Given the description of an element on the screen output the (x, y) to click on. 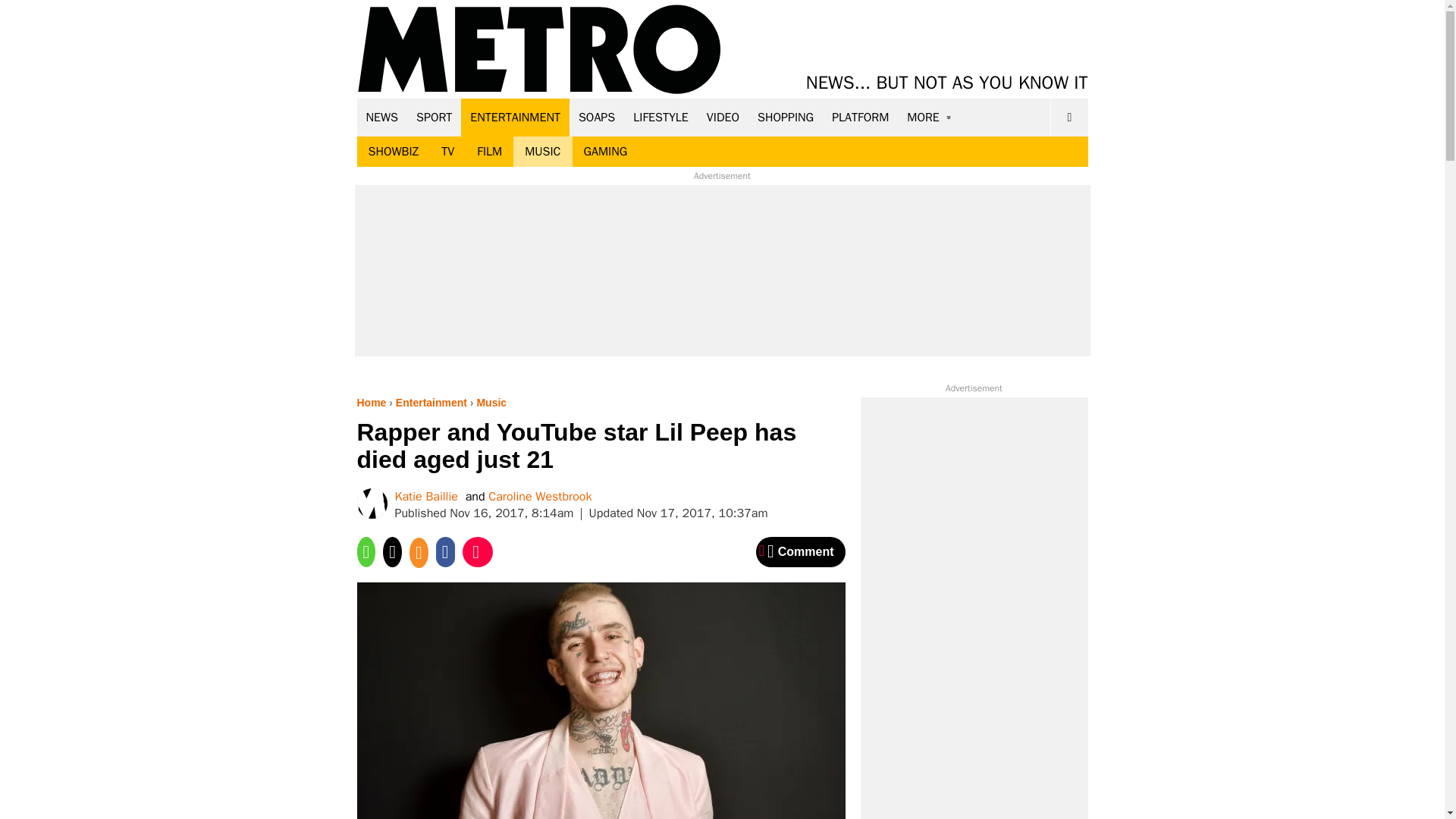
SHOWBIZ (392, 151)
FILM (489, 151)
MUSIC (542, 151)
LIFESTYLE (660, 117)
SOAPS (596, 117)
SPORT (434, 117)
Metro (539, 50)
GAMING (605, 151)
NEWS (381, 117)
ENTERTAINMENT (515, 117)
TV (447, 151)
